Given the description of an element on the screen output the (x, y) to click on. 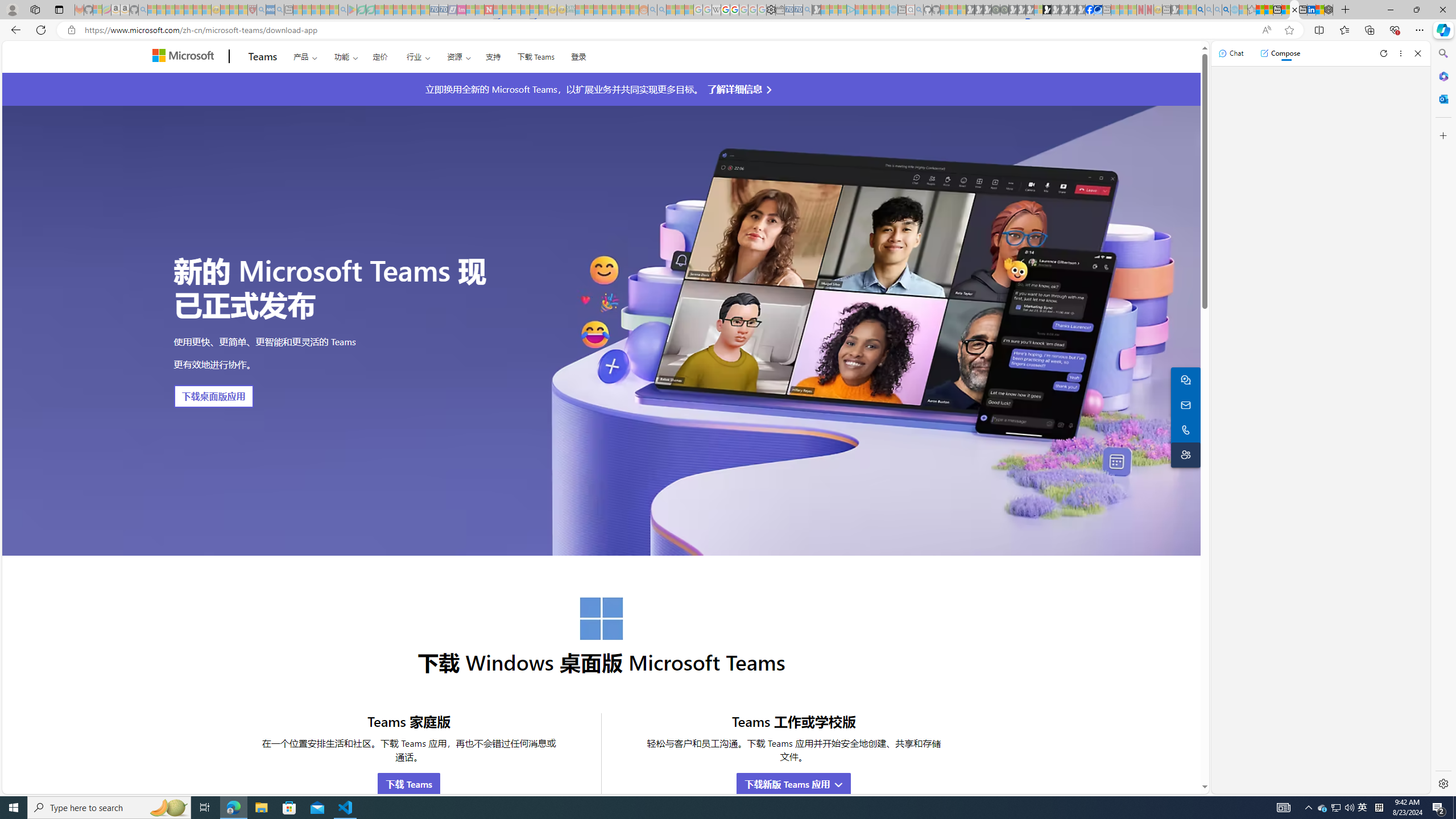
Google Chrome Internet Browser Download - Search Images (1225, 9)
